Given the description of an element on the screen output the (x, y) to click on. 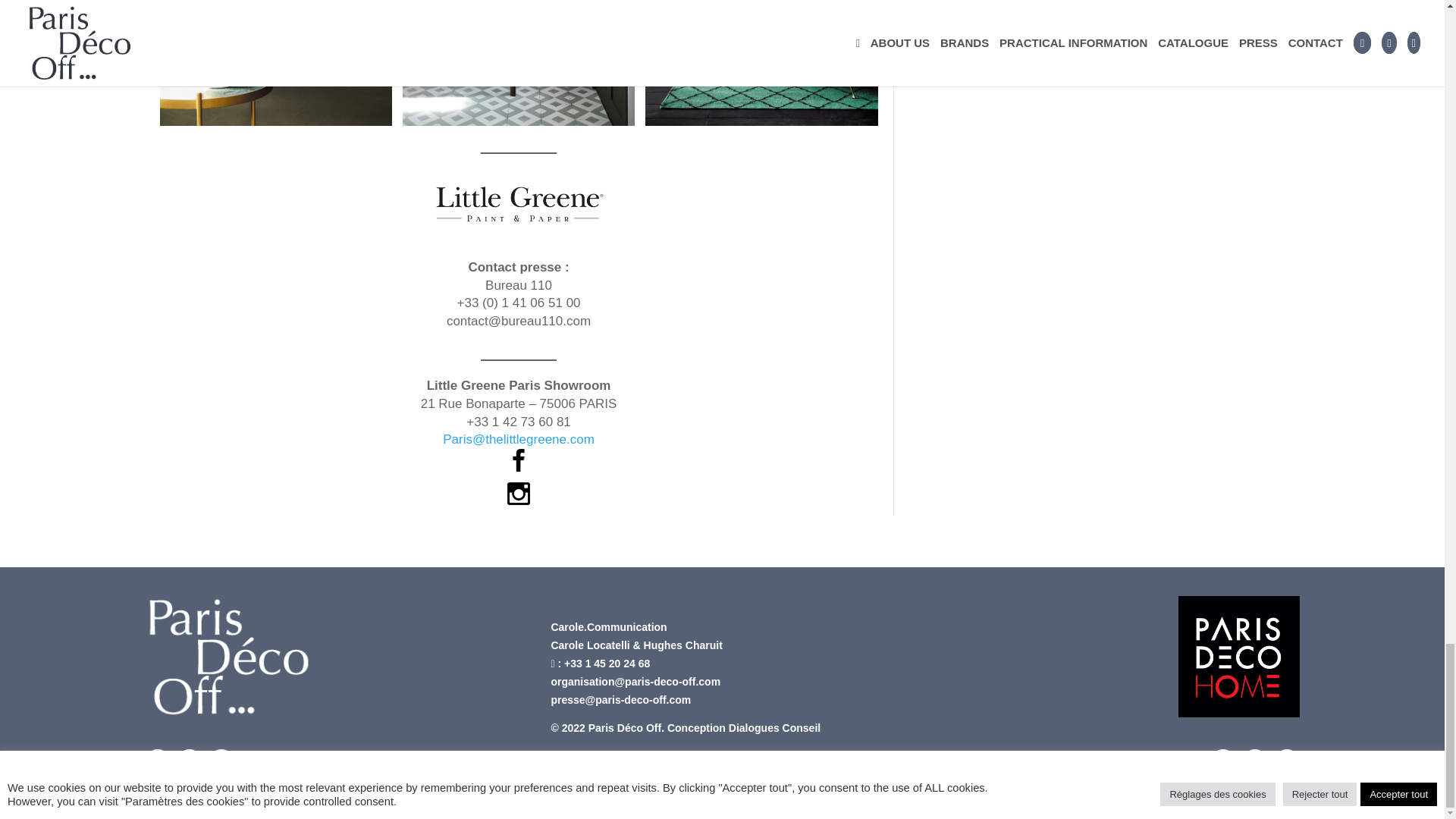
Follow on Instagram (1254, 761)
Follow on Youtube (1287, 761)
Follow on Instagram (189, 761)
RVB de base (1238, 656)
Follow on Facebook (1222, 761)
pdo-logo-blanc (228, 656)
Follow on Youtube (220, 761)
Follow on Facebook (157, 761)
